Given the description of an element on the screen output the (x, y) to click on. 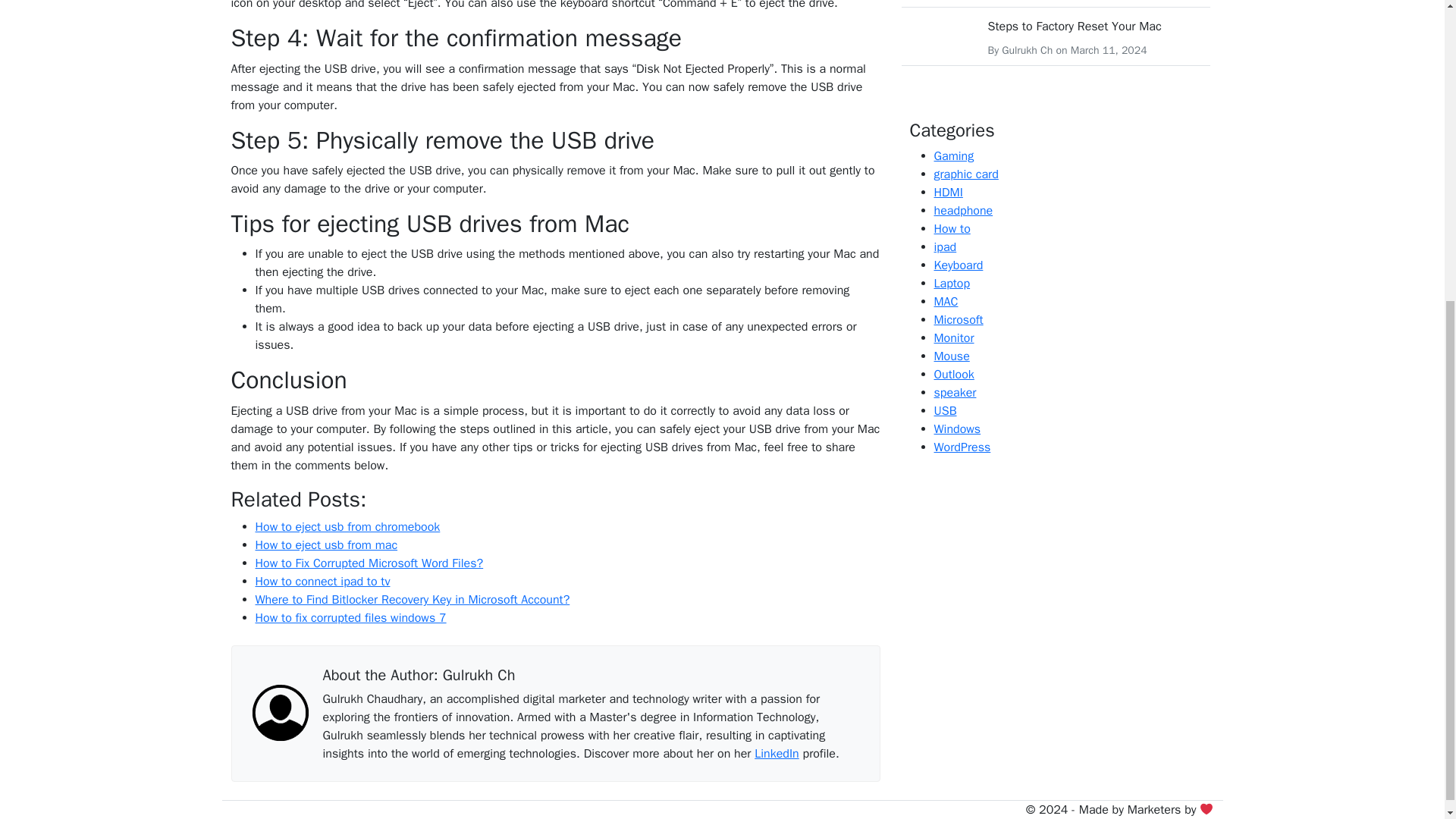
Keyboard (959, 264)
How to fix corrupted files windows 7 (349, 617)
HDMI (948, 192)
ipad (945, 246)
Outlook (954, 374)
speaker (955, 392)
Steps to Factory Reset Your Mac (1073, 26)
Mouse (951, 355)
Where to Find Bitlocker Recovery Key in Microsoft Account? (411, 599)
LinkedIn (775, 753)
How to (952, 228)
graphic card (966, 174)
How to connect ipad to tv (322, 581)
headphone (963, 210)
MAC (946, 301)
